Given the description of an element on the screen output the (x, y) to click on. 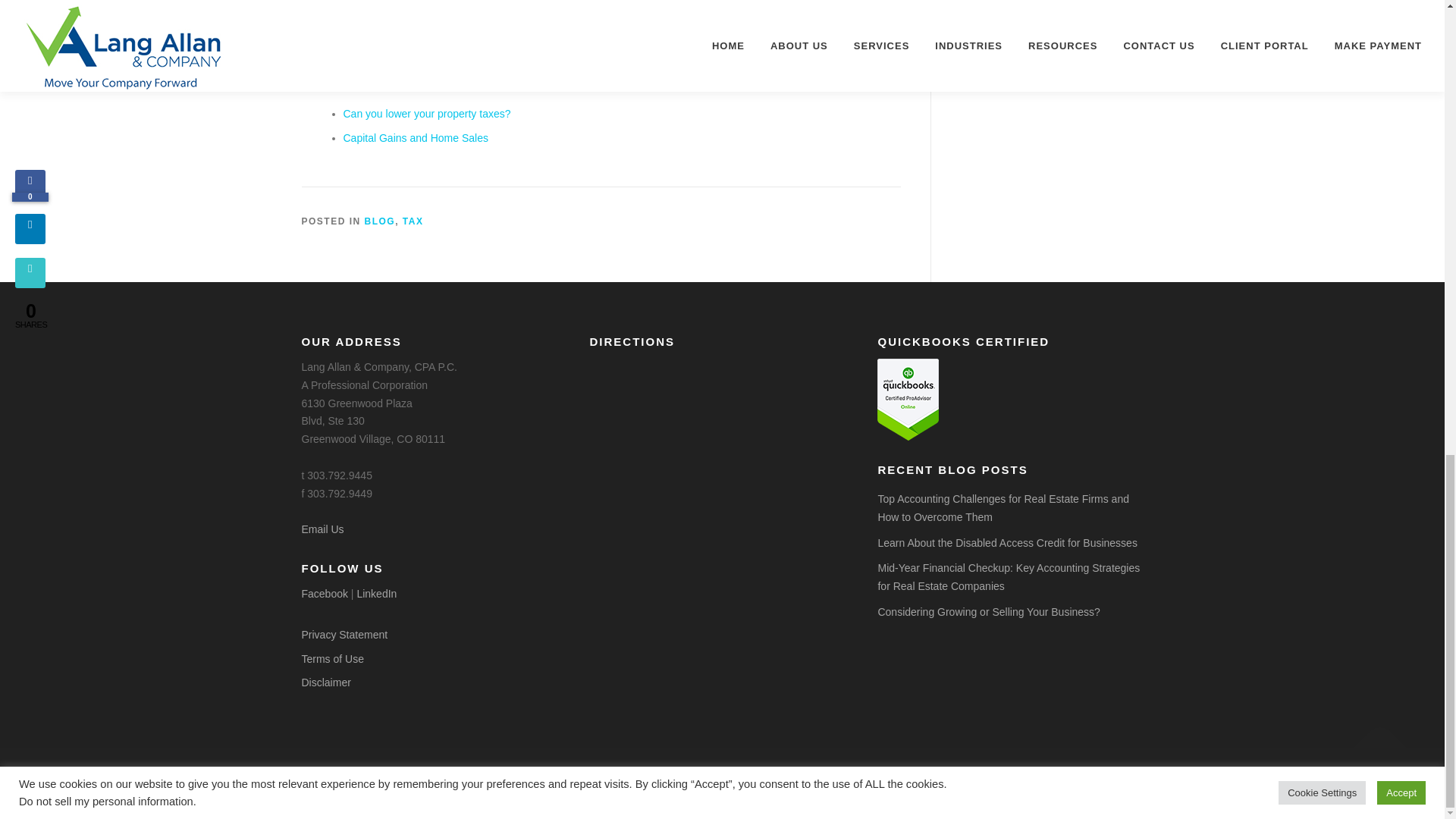
Can you lower your property taxes? (426, 113)
work with us (435, 51)
Back To Top (1372, 740)
